Given the description of an element on the screen output the (x, y) to click on. 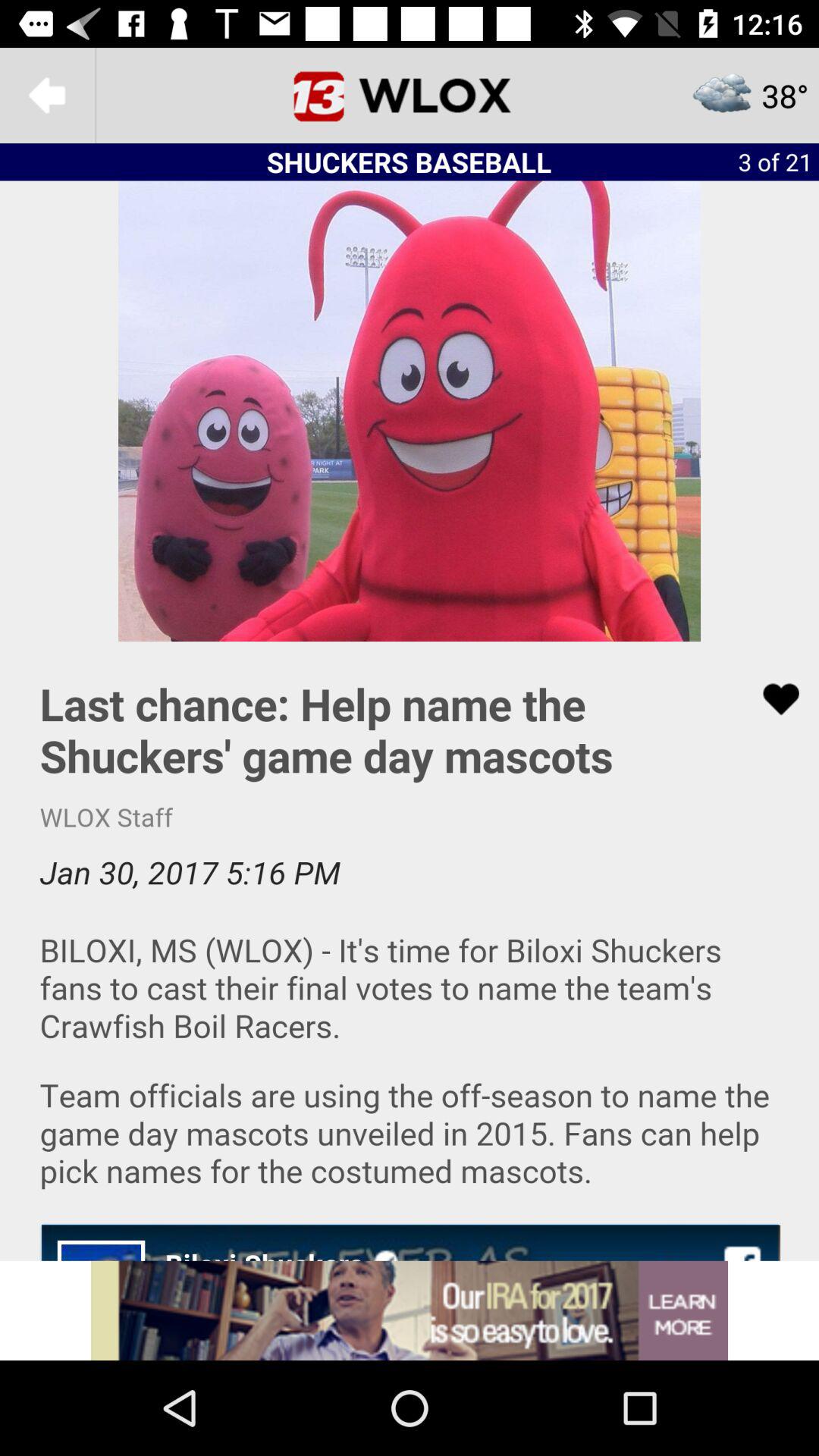
go back (47, 95)
